Given the description of an element on the screen output the (x, y) to click on. 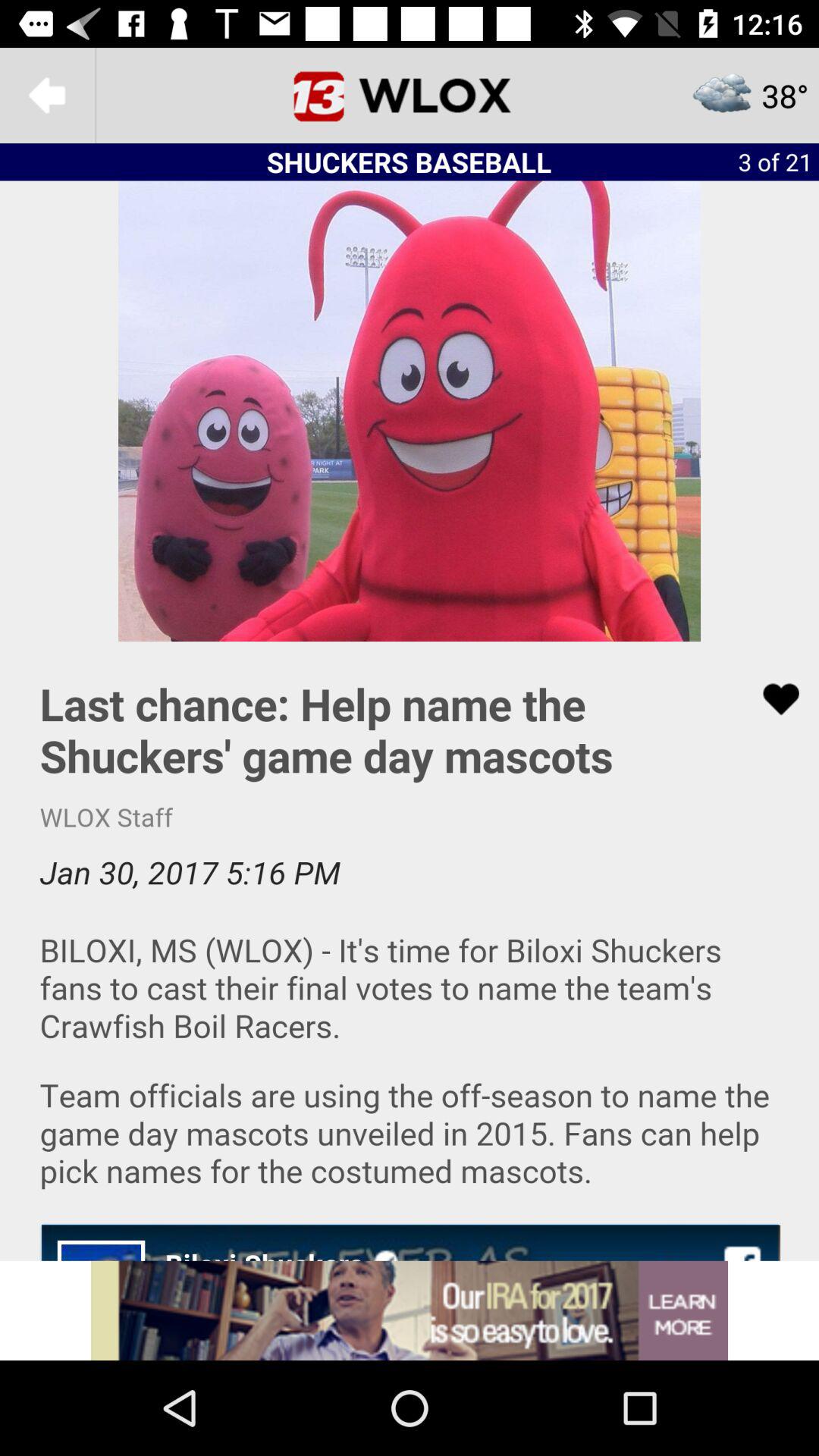
go back (47, 95)
